Given the description of an element on the screen output the (x, y) to click on. 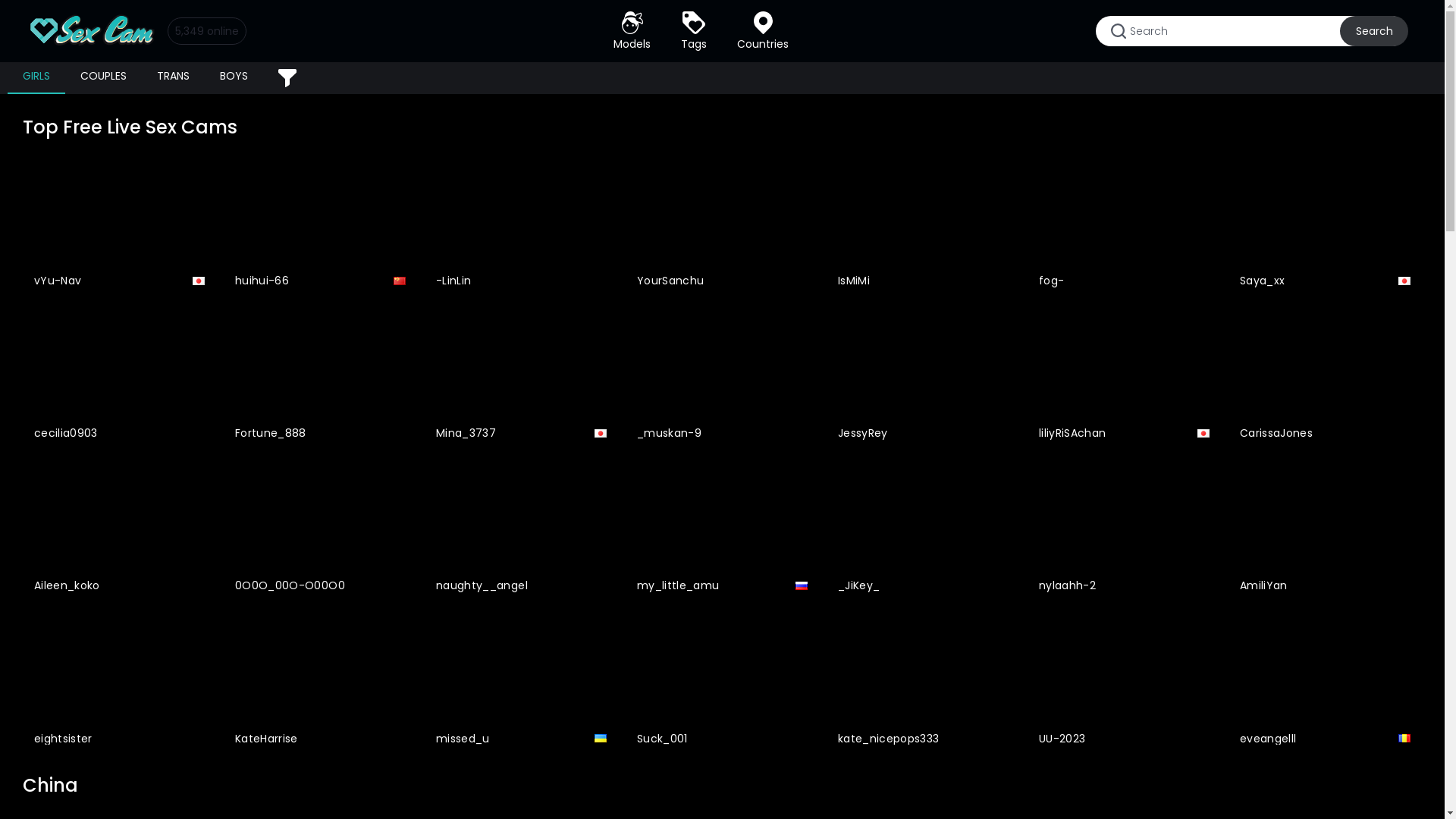
KateHarrise Element type: text (320, 679)
AmiliYan Element type: text (1324, 527)
0O0O_00O-O00O0 Element type: text (320, 527)
kate_nicepops333 Element type: text (922, 679)
missed_u Element type: text (521, 679)
BOYS Element type: text (233, 78)
Suck_001 Element type: text (722, 679)
nylaahh-2 Element type: text (1123, 527)
Saya_xx Element type: text (1324, 221)
Search Element type: text (1373, 30)
cecilia0903 Element type: text (119, 374)
-LinLin Element type: text (521, 221)
Countries Element type: text (762, 31)
_muskan-9 Element type: text (722, 374)
YourSanchu Element type: text (722, 221)
naughty__angel Element type: text (521, 527)
JessyRey Element type: text (922, 374)
COUPLES Element type: text (103, 78)
Mina_3737 Element type: text (521, 374)
UU-2023 Element type: text (1123, 679)
_JiKey_ Element type: text (922, 527)
CarissaJones Element type: text (1324, 374)
Models Element type: text (631, 31)
liliyRiSAchan Element type: text (1123, 374)
Fortune_888 Element type: text (320, 374)
vYu-Nav Element type: text (119, 221)
fog- Element type: text (1123, 221)
huihui-66 Element type: text (320, 221)
Tags Element type: text (693, 31)
my_little_amu Element type: text (722, 527)
GIRLS Element type: text (36, 78)
IsMiMi Element type: text (922, 221)
eightsister Element type: text (119, 679)
TRANS Element type: text (172, 78)
Aileen_koko Element type: text (119, 527)
eveangelll Element type: text (1324, 679)
